Given the description of an element on the screen output the (x, y) to click on. 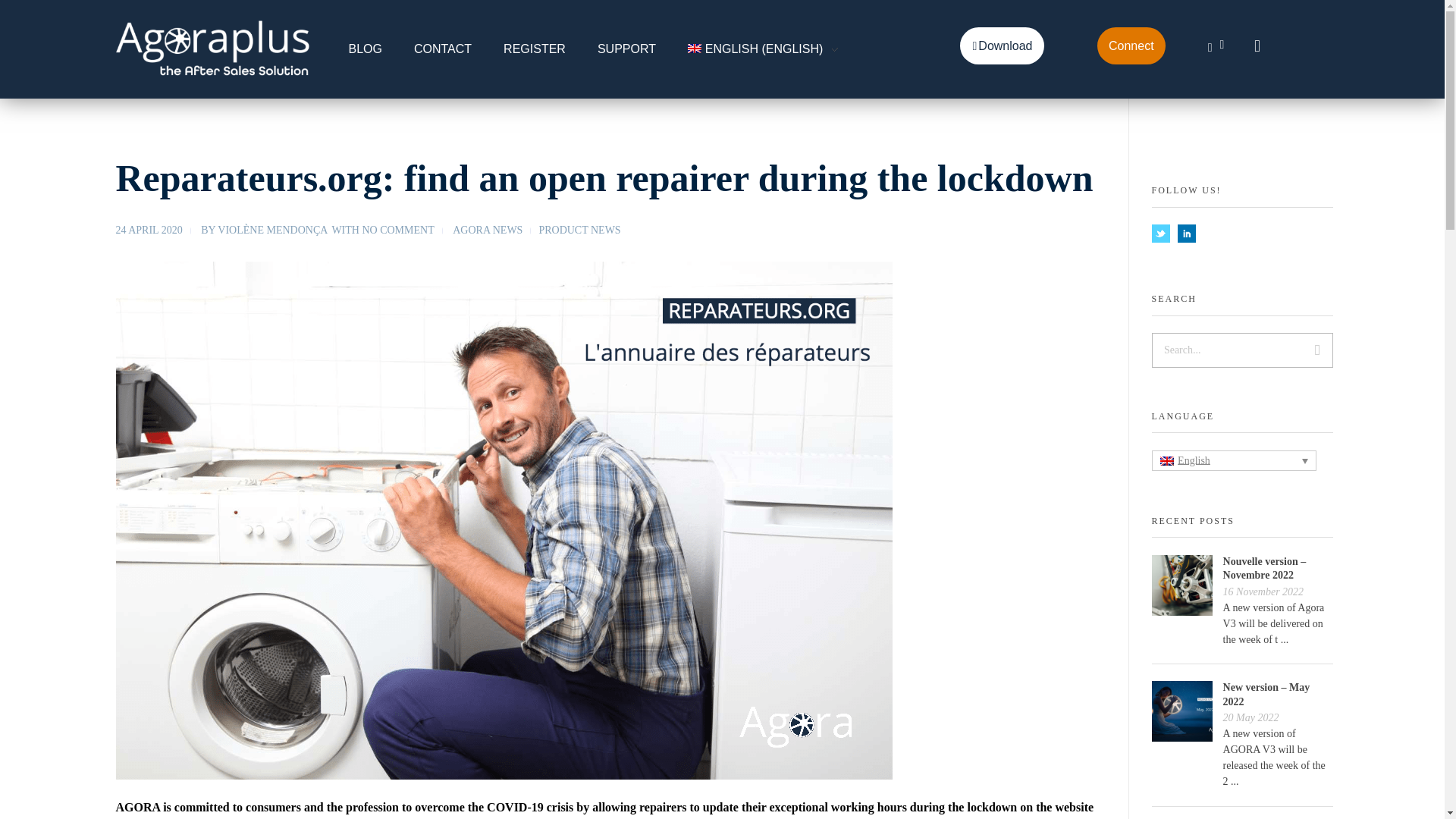
AGORA NEWS (495, 229)
Follow Us on Twitter (1160, 233)
Connect (1131, 45)
CONTACT (442, 49)
English (754, 49)
Agora Plus (163, 87)
View all posts in Agora News (495, 229)
REGISTER (533, 49)
Download (1001, 45)
View all posts in Product News (579, 229)
Agora Plus (212, 46)
BLOG (373, 49)
Follow Us on LinkedIn (1185, 233)
SUPPORT (625, 49)
Agora Plus (163, 87)
